Given the description of an element on the screen output the (x, y) to click on. 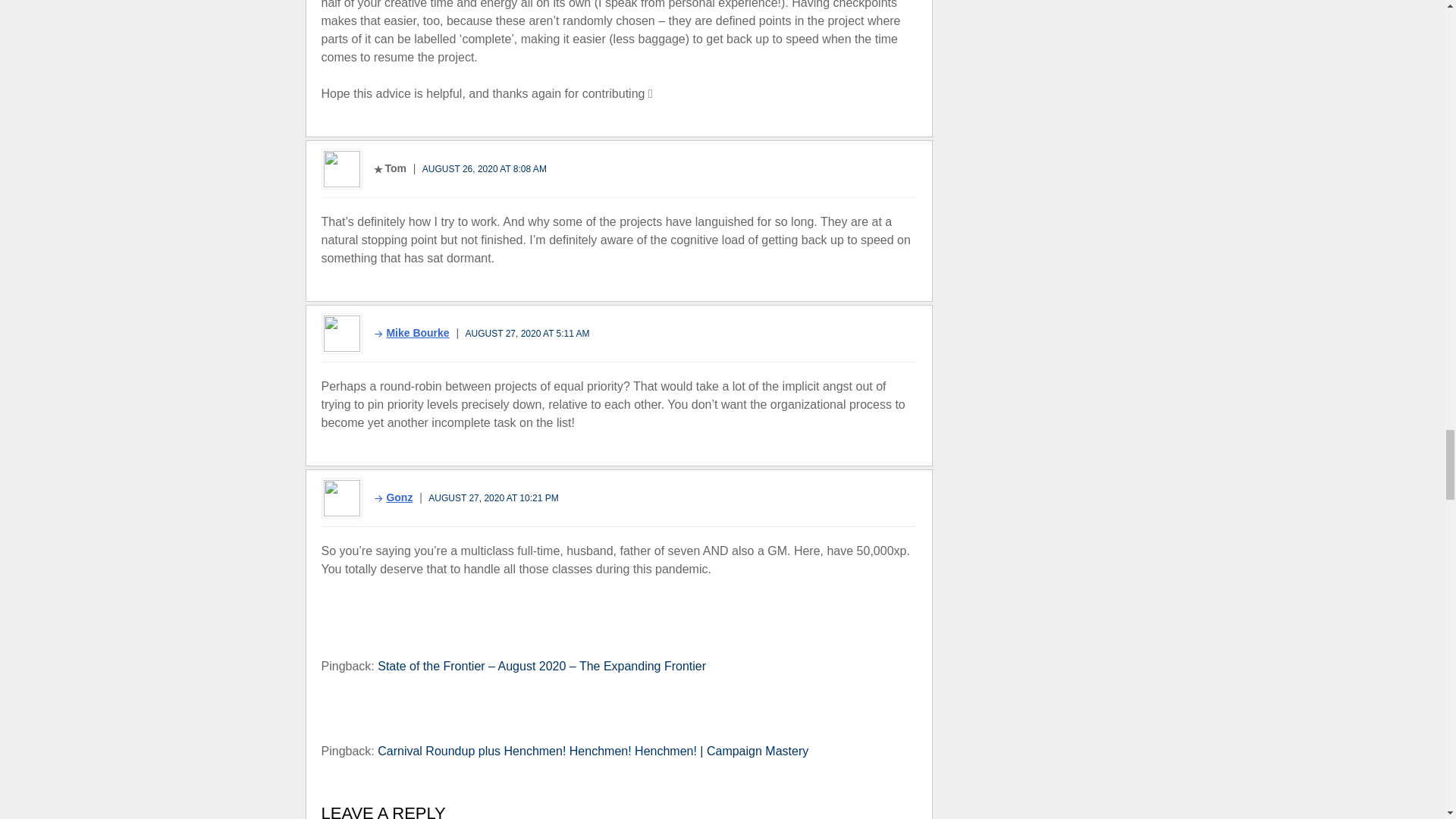
AUGUST 27, 2020 AT 5:11 AM (527, 332)
Gonz (388, 497)
Mike Bourke (406, 331)
AUGUST 26, 2020 AT 8:08 AM (484, 168)
